Given the description of an element on the screen output the (x, y) to click on. 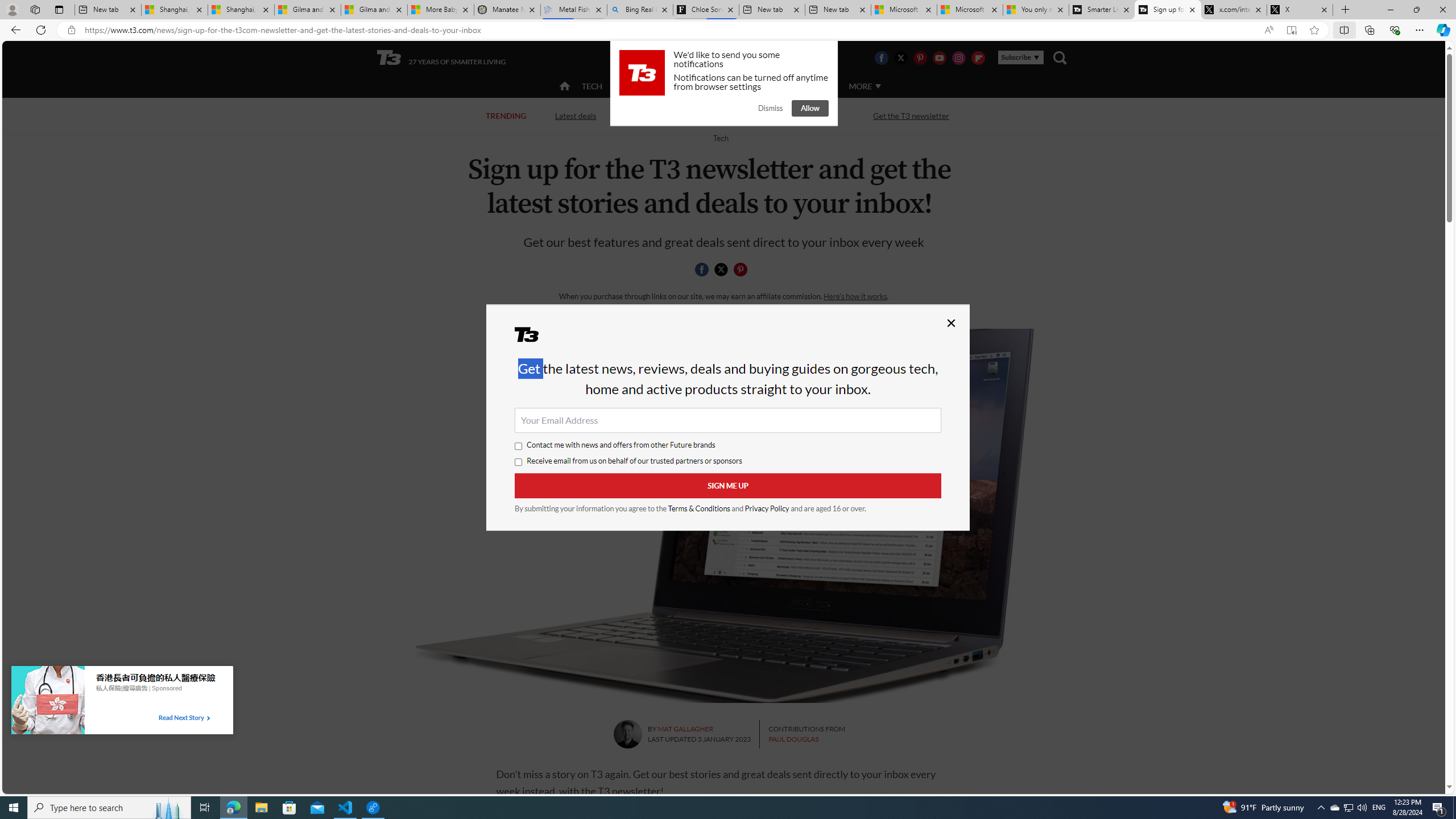
Smarter Living | T3 (1102, 9)
Visit us on Instagram (958, 57)
MORE  (863, 86)
ACTIVE (638, 86)
Back to Class 2024 (669, 115)
Streaming TV and movies (788, 115)
Share this page on Twitter (720, 269)
T3 (534, 338)
PAUL DOUGLAS (793, 738)
